Given the description of an element on the screen output the (x, y) to click on. 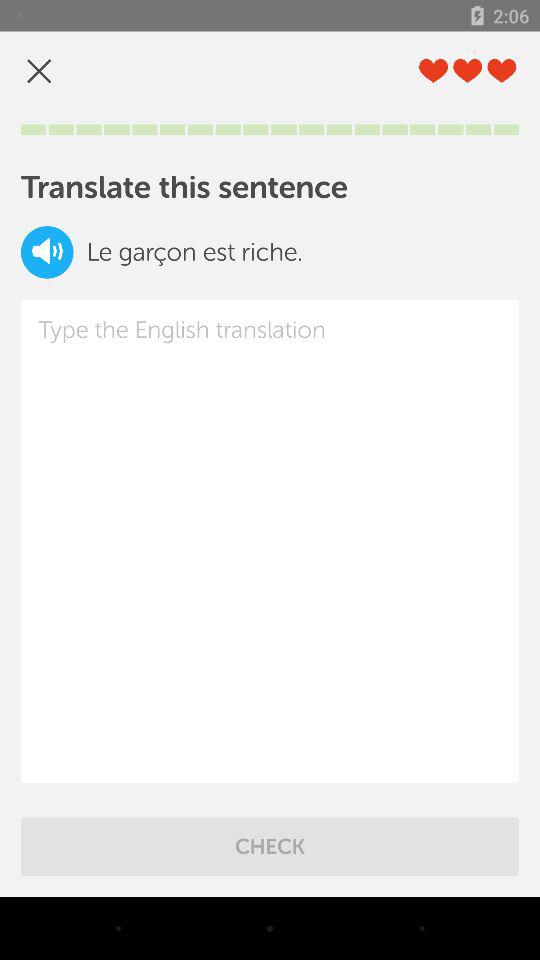
open icon next to the le (47, 252)
